Given the description of an element on the screen output the (x, y) to click on. 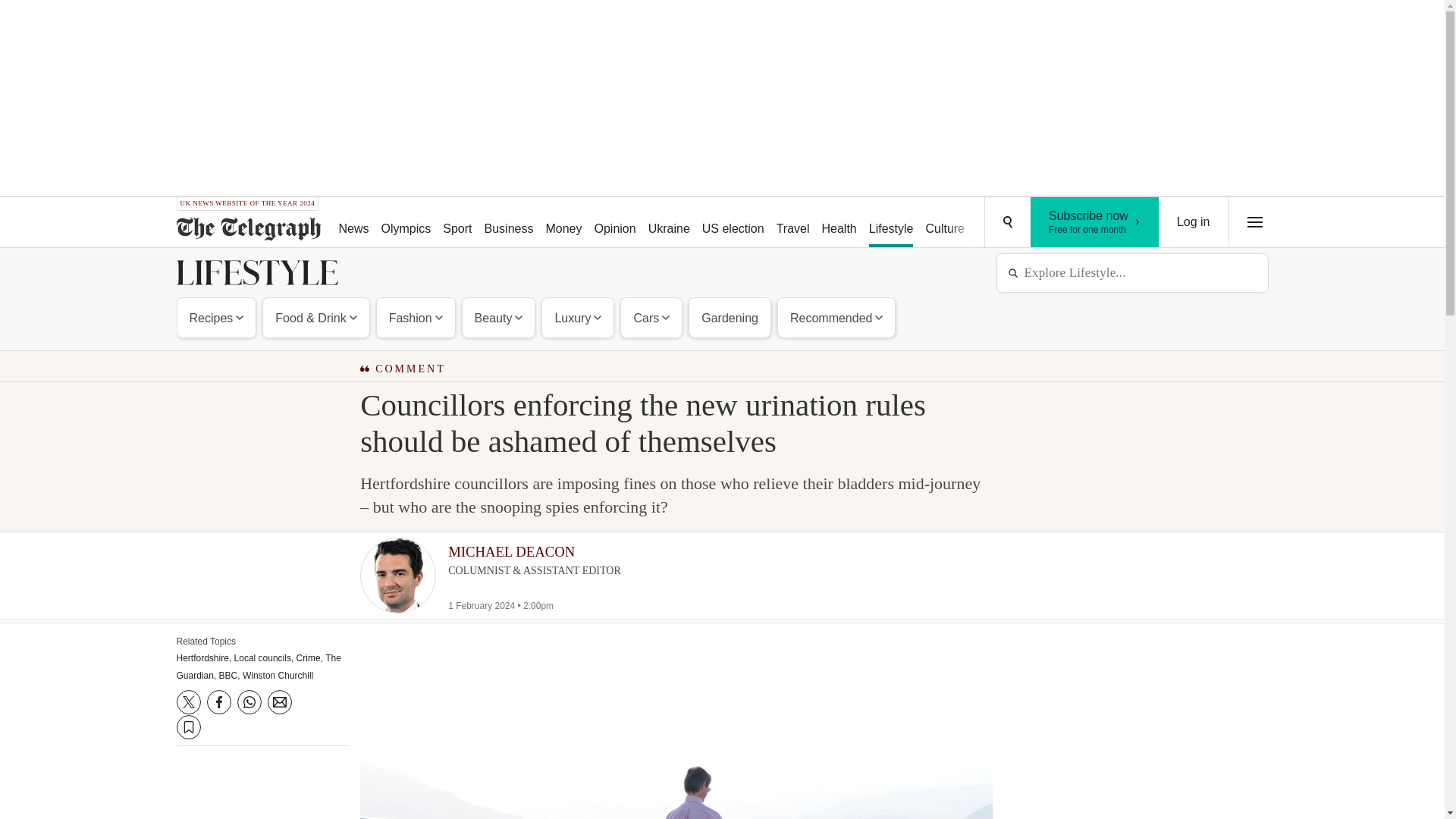
Puzzles (998, 223)
Log in (1193, 222)
Health (838, 223)
Recipes (216, 317)
Money (563, 223)
Culture (944, 223)
Business (509, 223)
US election (732, 223)
Travel (792, 223)
Olympics (406, 223)
Lifestyle (891, 223)
Podcasts (1056, 223)
Opinion (1094, 222)
Ukraine (615, 223)
